Given the description of an element on the screen output the (x, y) to click on. 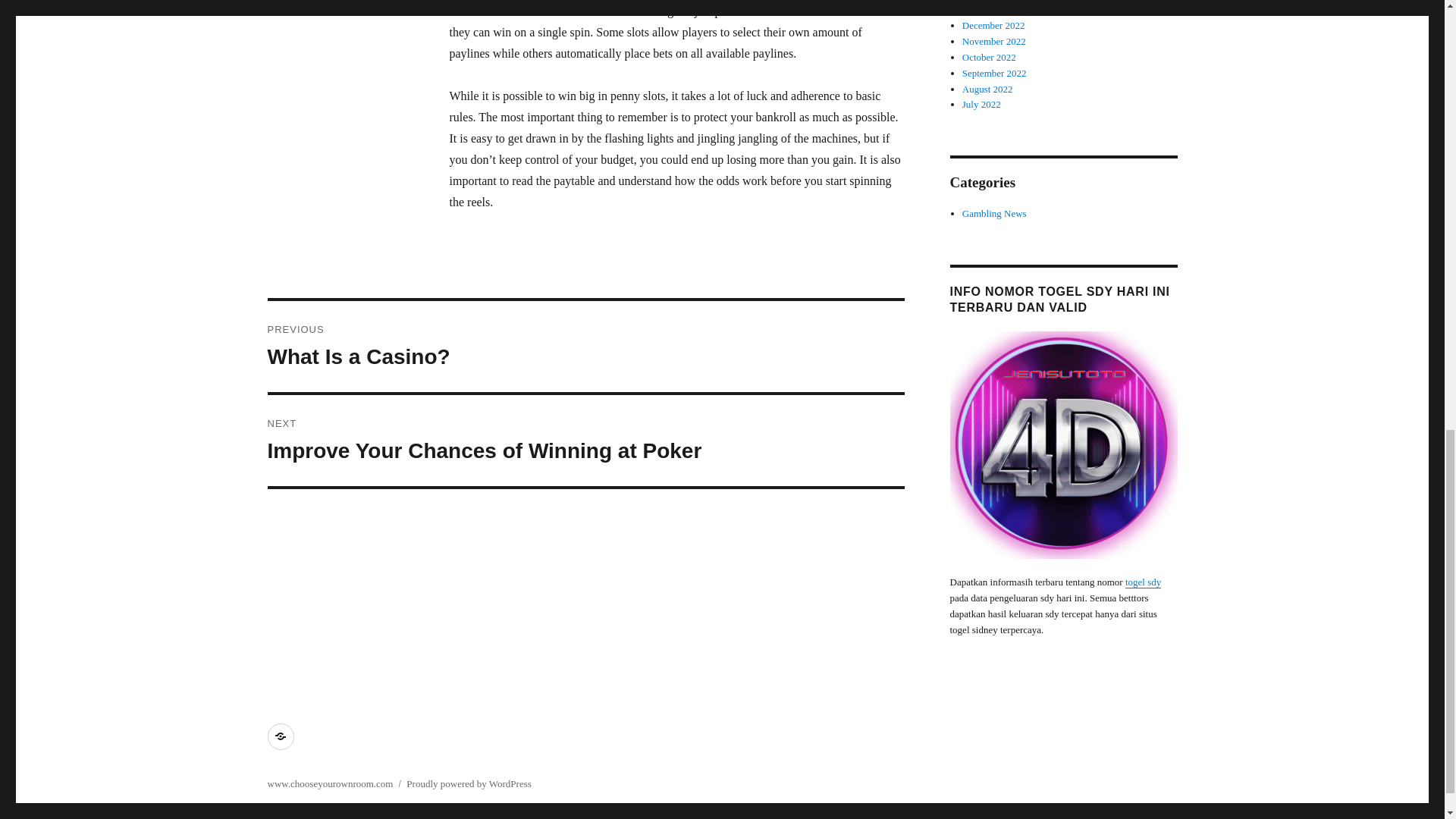
September 2022 (585, 440)
October 2022 (994, 72)
December 2022 (585, 346)
July 2022 (989, 57)
January 2023 (993, 25)
Gambling News (981, 103)
November 2022 (988, 9)
togel sdy (994, 213)
August 2022 (994, 41)
